Given the description of an element on the screen output the (x, y) to click on. 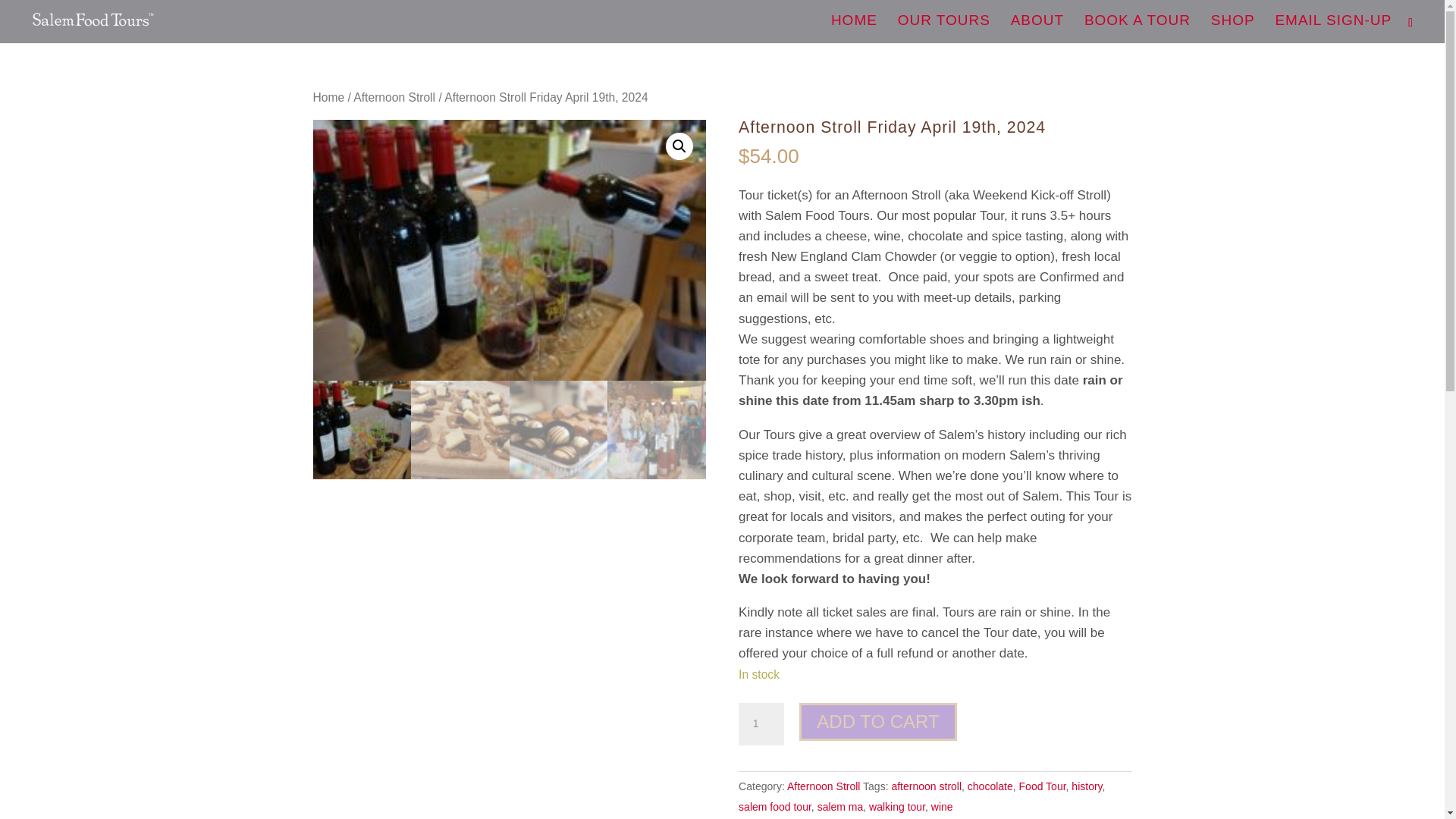
1 (761, 723)
OUR TOURS (944, 27)
EMAIL SIGN-UP (1333, 27)
SHOP (1233, 29)
HOME (854, 29)
2015-08-25 15.52.50 (508, 249)
BOOK A TOUR (1137, 29)
ABOUT (1037, 27)
